Given the description of an element on the screen output the (x, y) to click on. 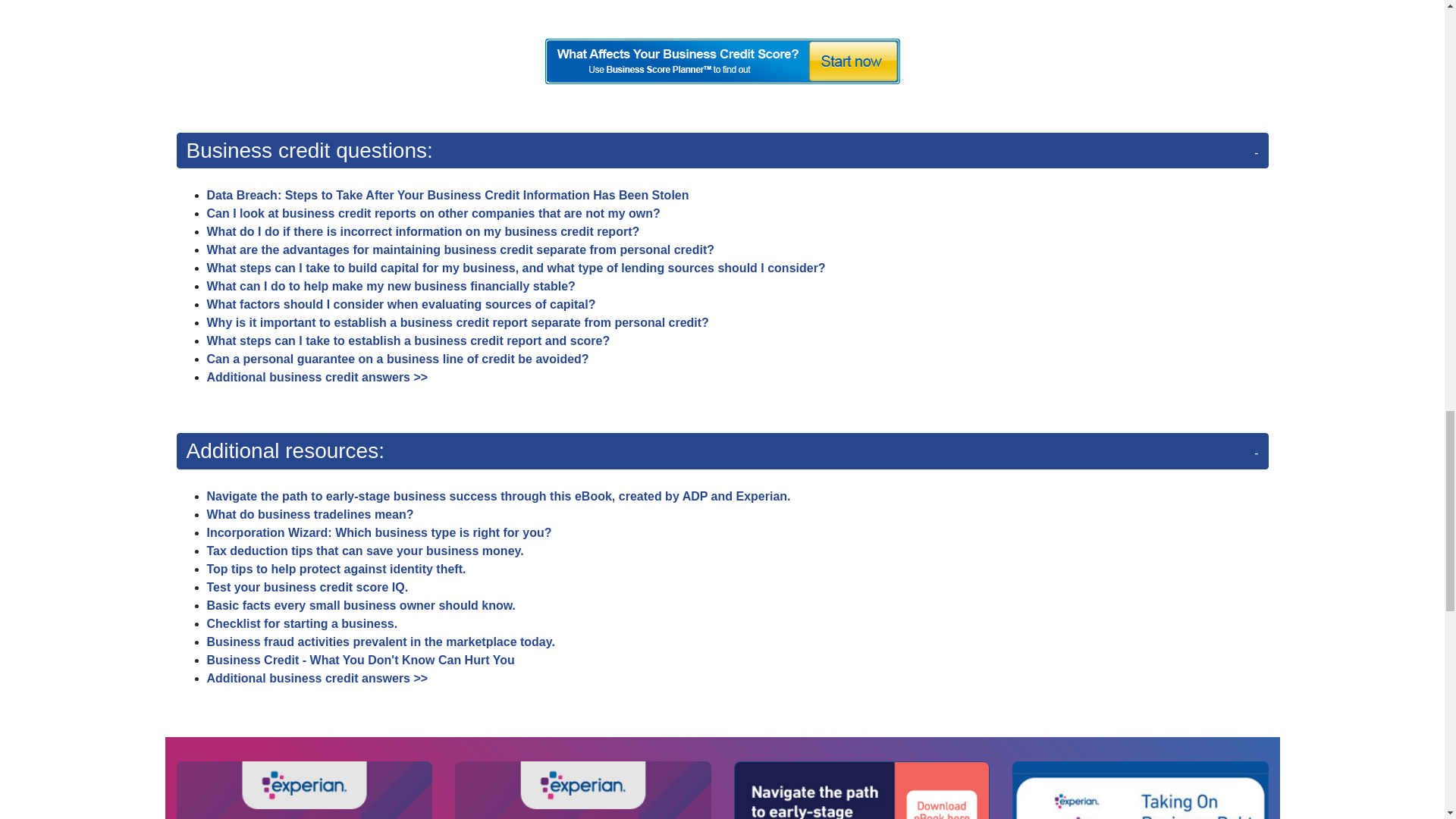
Tax deduction tips that can save your business money. (364, 550)
Test your business credit score IQ. (306, 586)
Business Score Planner (721, 61)
